Given the description of an element on the screen output the (x, y) to click on. 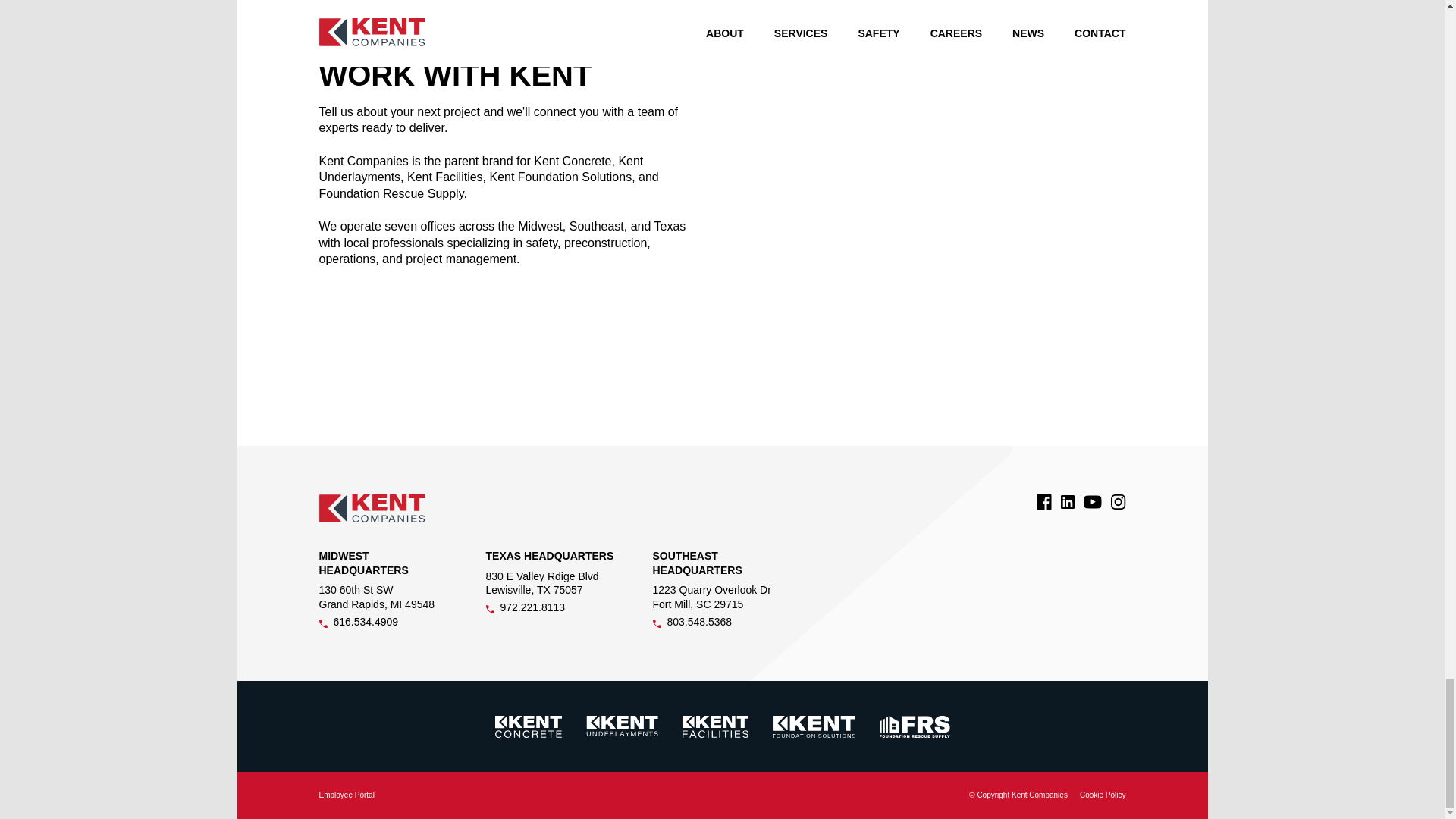
Instagram (1117, 501)
LinkedIn (1066, 501)
972.221.8113 (552, 609)
Facebook (1043, 501)
Employee Portal (346, 795)
616.534.4909 (386, 623)
Kent Companies (1039, 795)
YouTube (1091, 501)
803.548.5368 (720, 623)
